Given the description of an element on the screen output the (x, y) to click on. 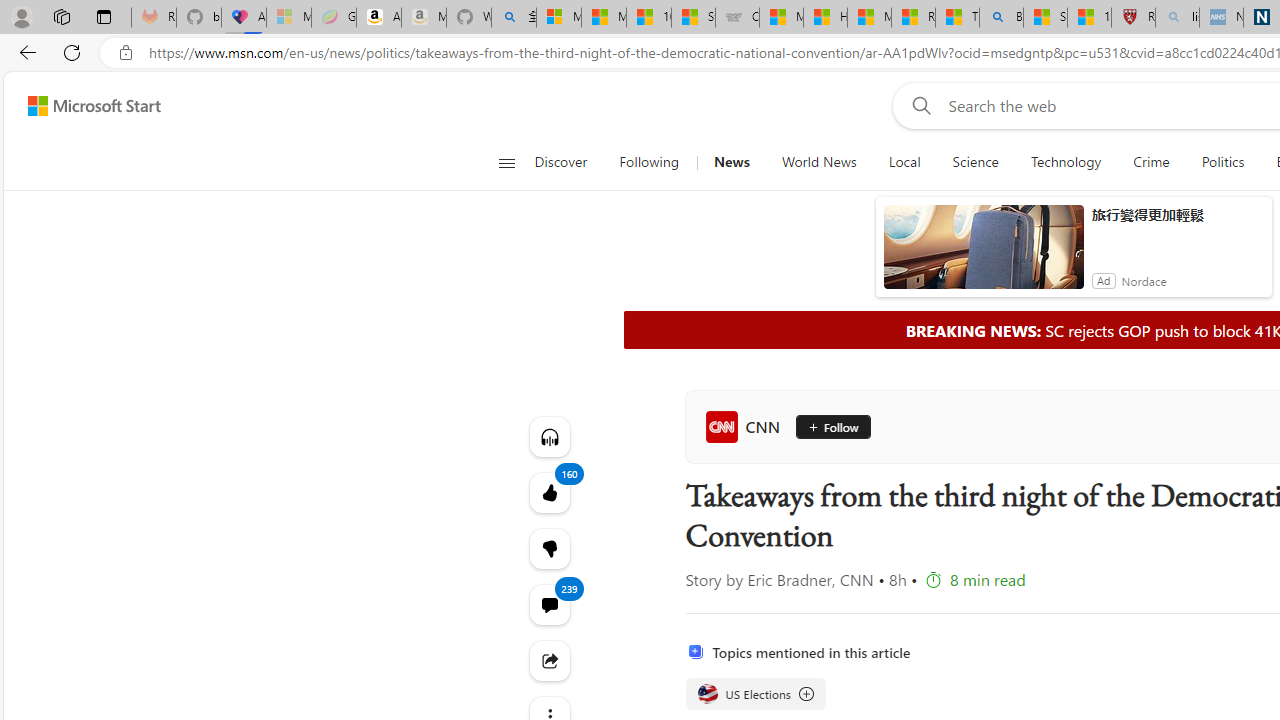
Asthma Inhalers: Names and Types (243, 17)
Stocks - MSN (693, 17)
Microsoft account | Privacy (558, 17)
Bing (1001, 17)
Web search (917, 105)
Class: at-item (548, 660)
US Elections (754, 693)
US Elections US Elections US Elections (754, 693)
